Given the description of an element on the screen output the (x, y) to click on. 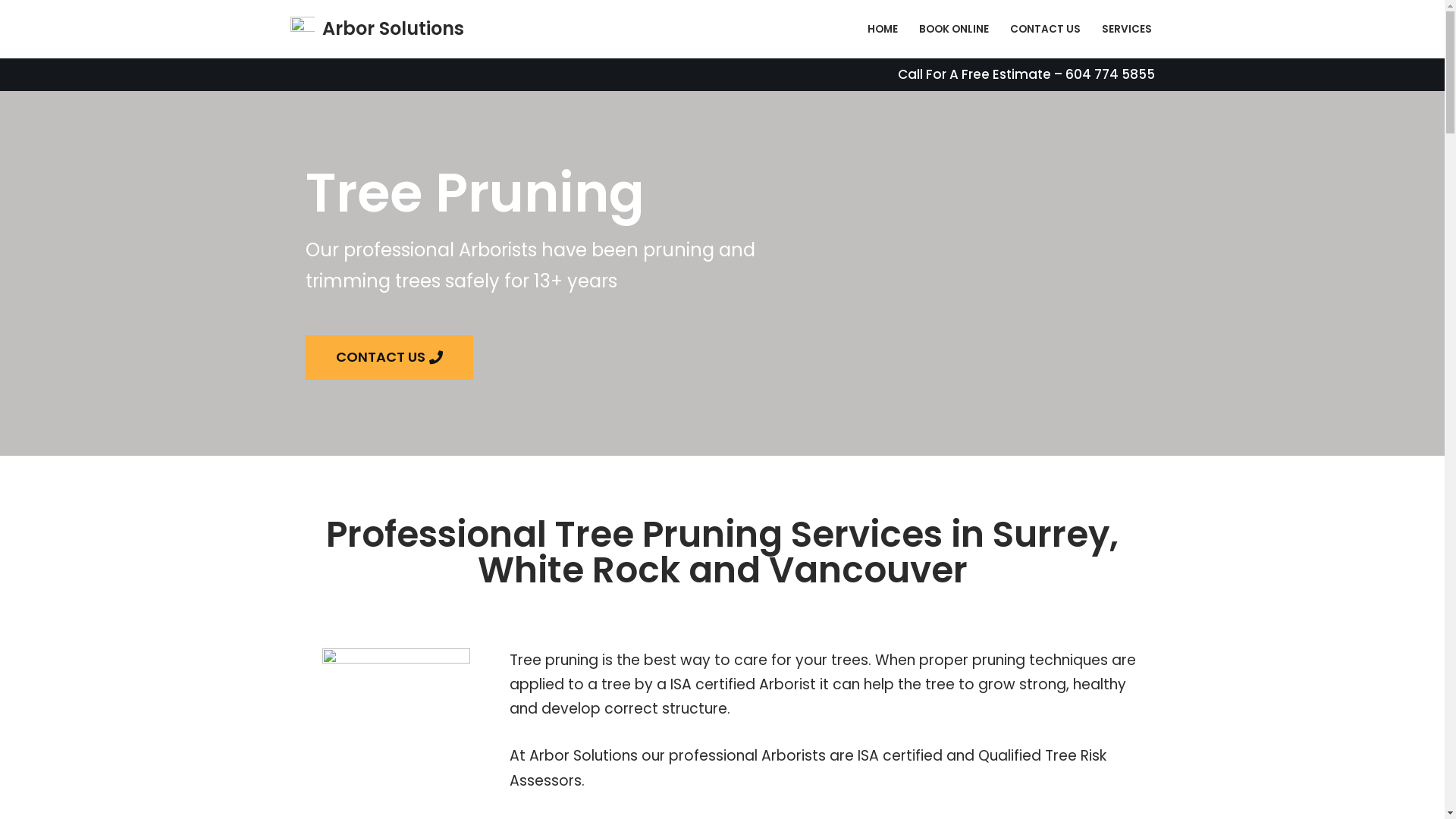
604 774 5855 Element type: text (1107, 74)
Arbor Solutions Element type: text (376, 28)
SERVICES Element type: text (1126, 28)
BOOK ONLINE Element type: text (953, 28)
HOME Element type: text (882, 28)
Skip to content Element type: text (11, 31)
CONTACT US Element type: text (388, 357)
CONTACT US Element type: text (1045, 28)
